Given the description of an element on the screen output the (x, y) to click on. 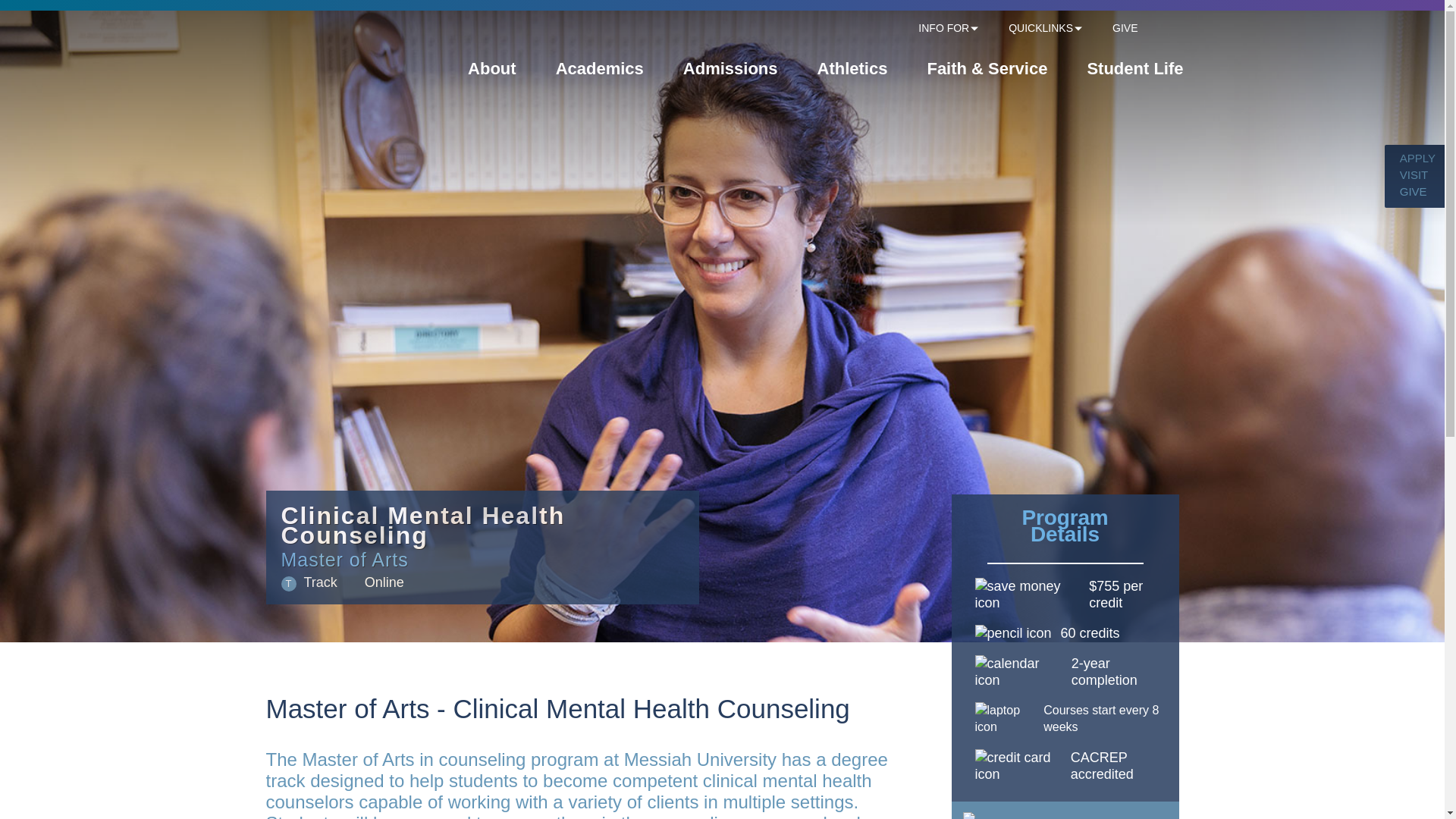
INFO FOR (943, 28)
search (1176, 29)
About (491, 72)
QUICKLINKS (1041, 28)
GIVE (1124, 28)
